Given the description of an element on the screen output the (x, y) to click on. 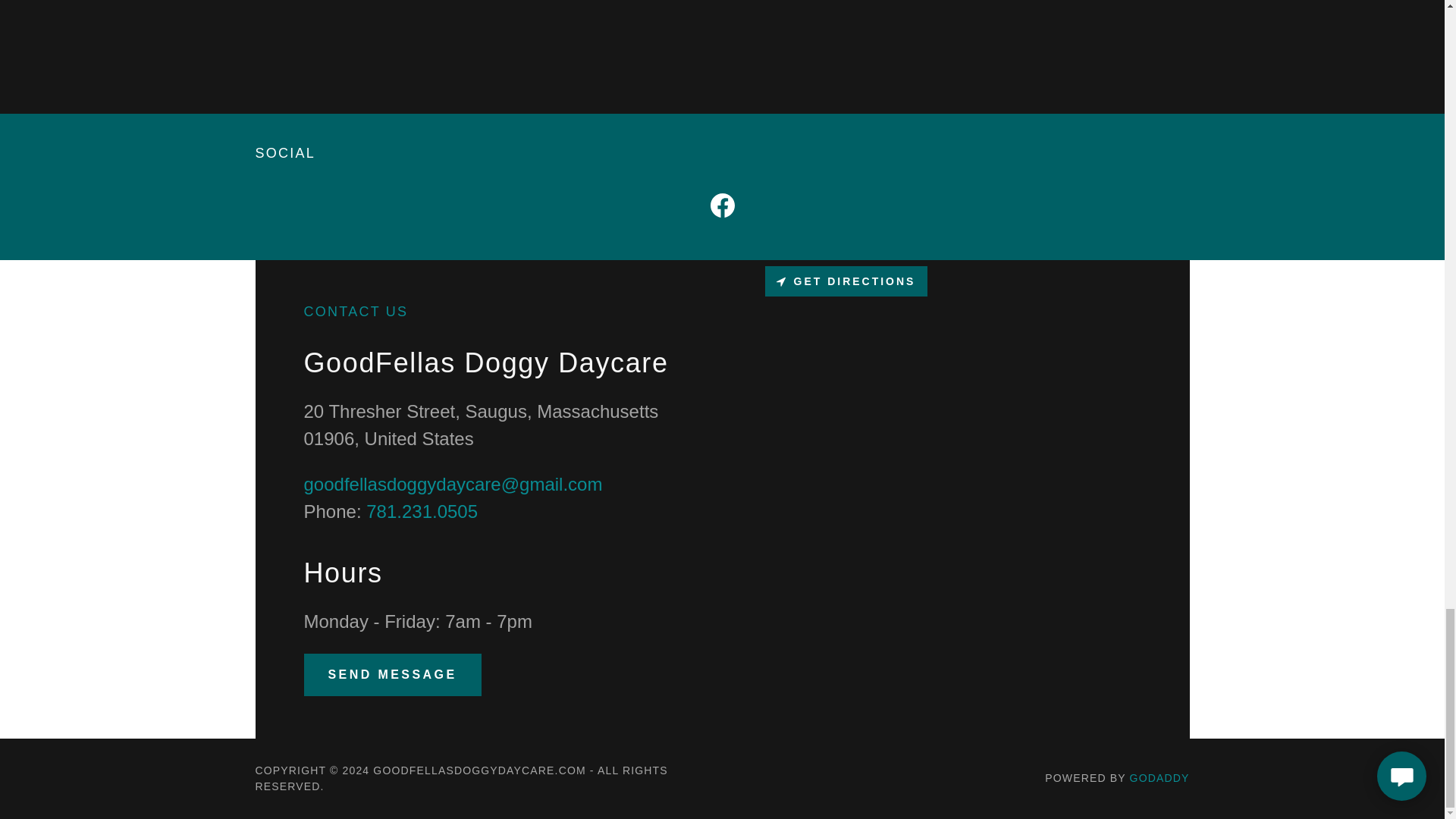
781.231.0505 (421, 511)
GET DIRECTIONS (845, 281)
SEND MESSAGE (391, 674)
